Given the description of an element on the screen output the (x, y) to click on. 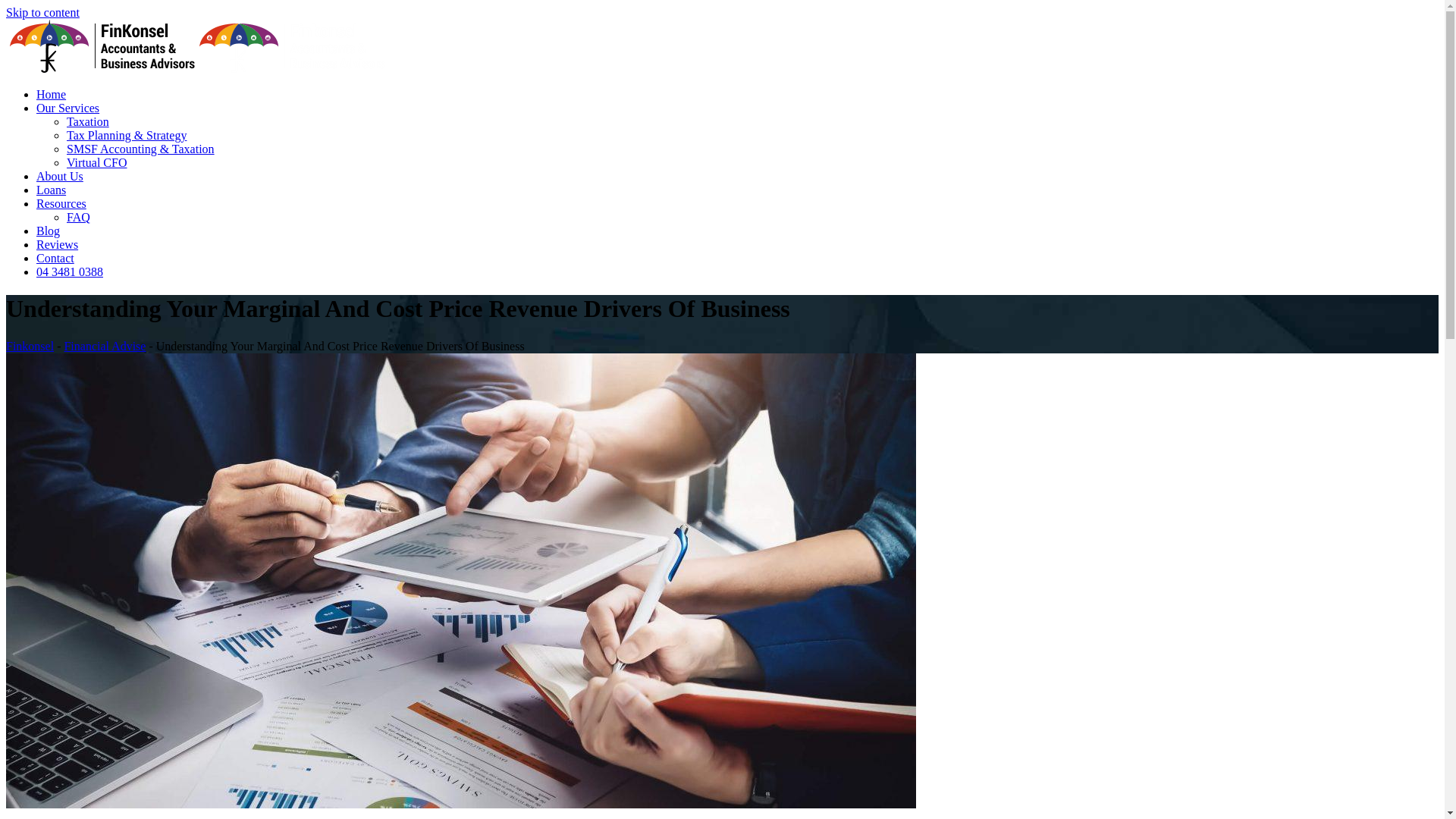
Taxation Element type: text (87, 121)
Skip to content Element type: text (42, 12)
Virtual CFO Element type: text (96, 162)
Our Services Element type: text (67, 107)
Contact Element type: text (55, 257)
Tax Planning & Strategy Element type: text (126, 134)
FAQ Element type: text (78, 216)
Blog Element type: text (47, 230)
04 3481 0388 Element type: text (69, 271)
Financial Advise Element type: text (104, 345)
Resources Element type: text (61, 203)
Home Element type: text (50, 93)
About Us Element type: text (59, 175)
Reviews Element type: text (57, 244)
SMSF Accounting & Taxation Element type: text (140, 148)
Loans Element type: text (50, 189)
Finkonsel Element type: text (29, 345)
